Given the description of an element on the screen output the (x, y) to click on. 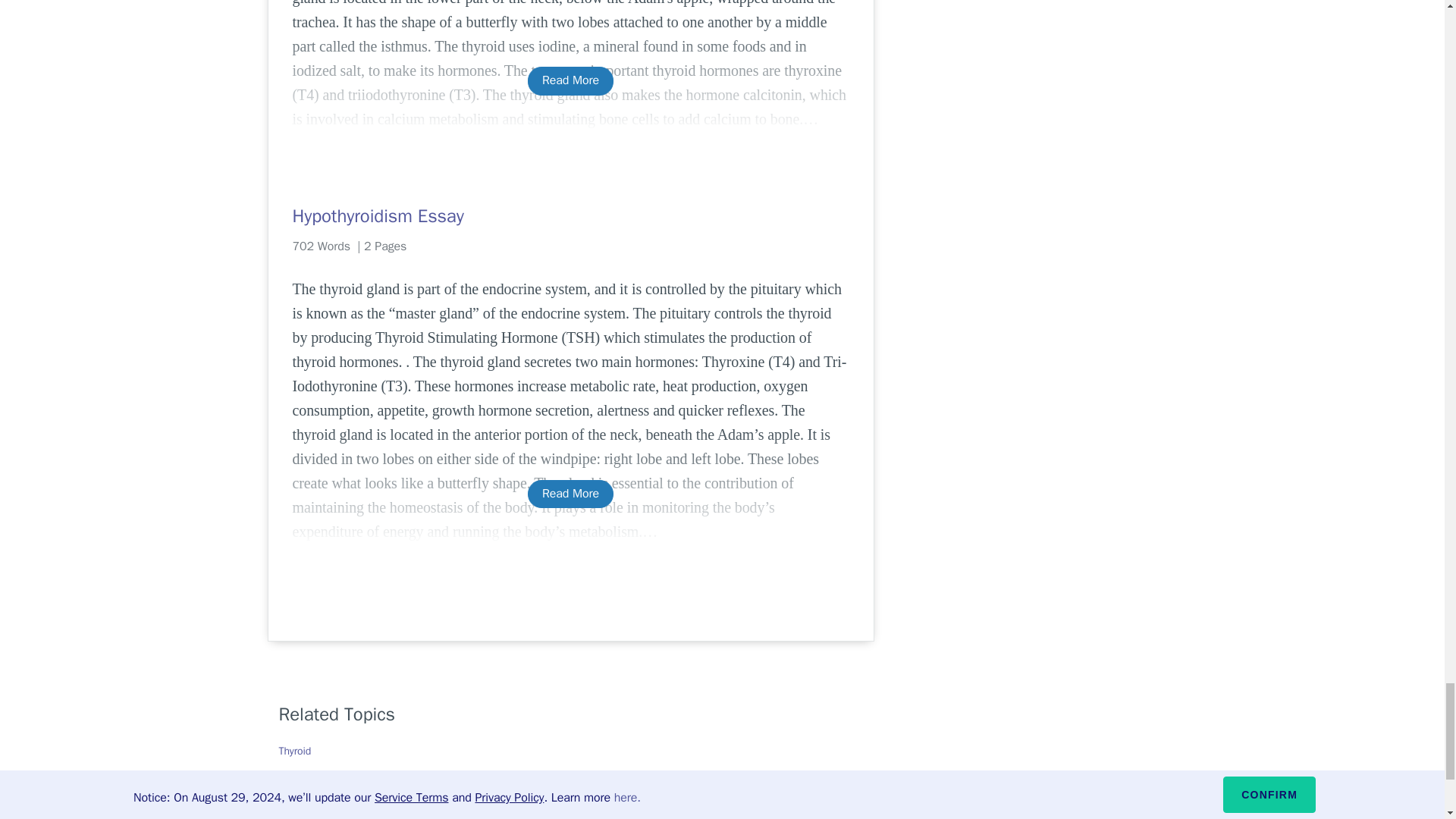
Thyroid (295, 750)
